Given the description of an element on the screen output the (x, y) to click on. 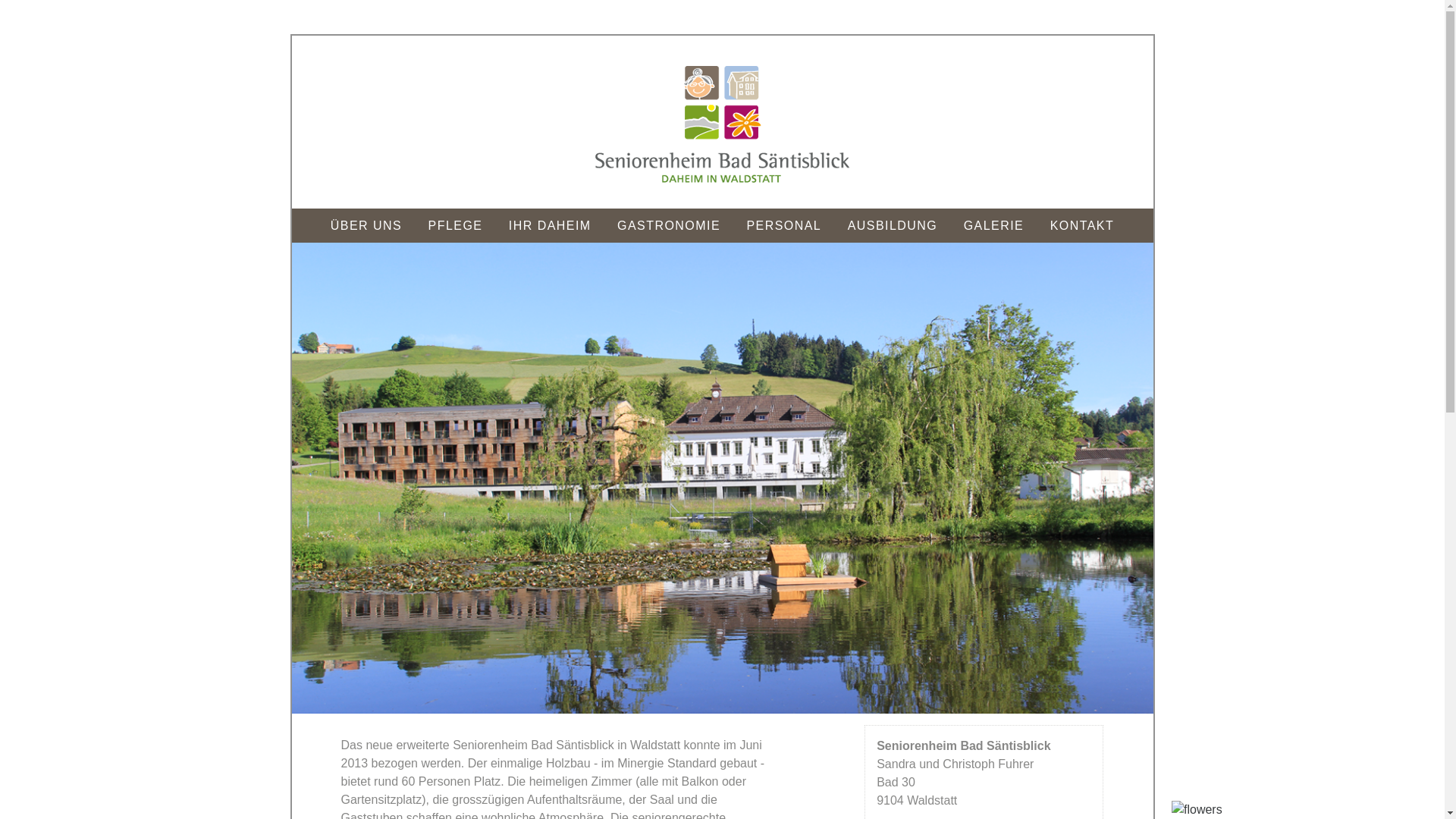
PERSONAL Element type: text (783, 225)
GALERIE Element type: text (993, 225)
AUSBILDUNG Element type: text (892, 225)
GASTRONOMIE Element type: text (668, 225)
PFLEGE Element type: text (455, 225)
IHR DAHEIM Element type: text (549, 225)
KONTAKT Element type: text (1082, 225)
